Given the description of an element on the screen output the (x, y) to click on. 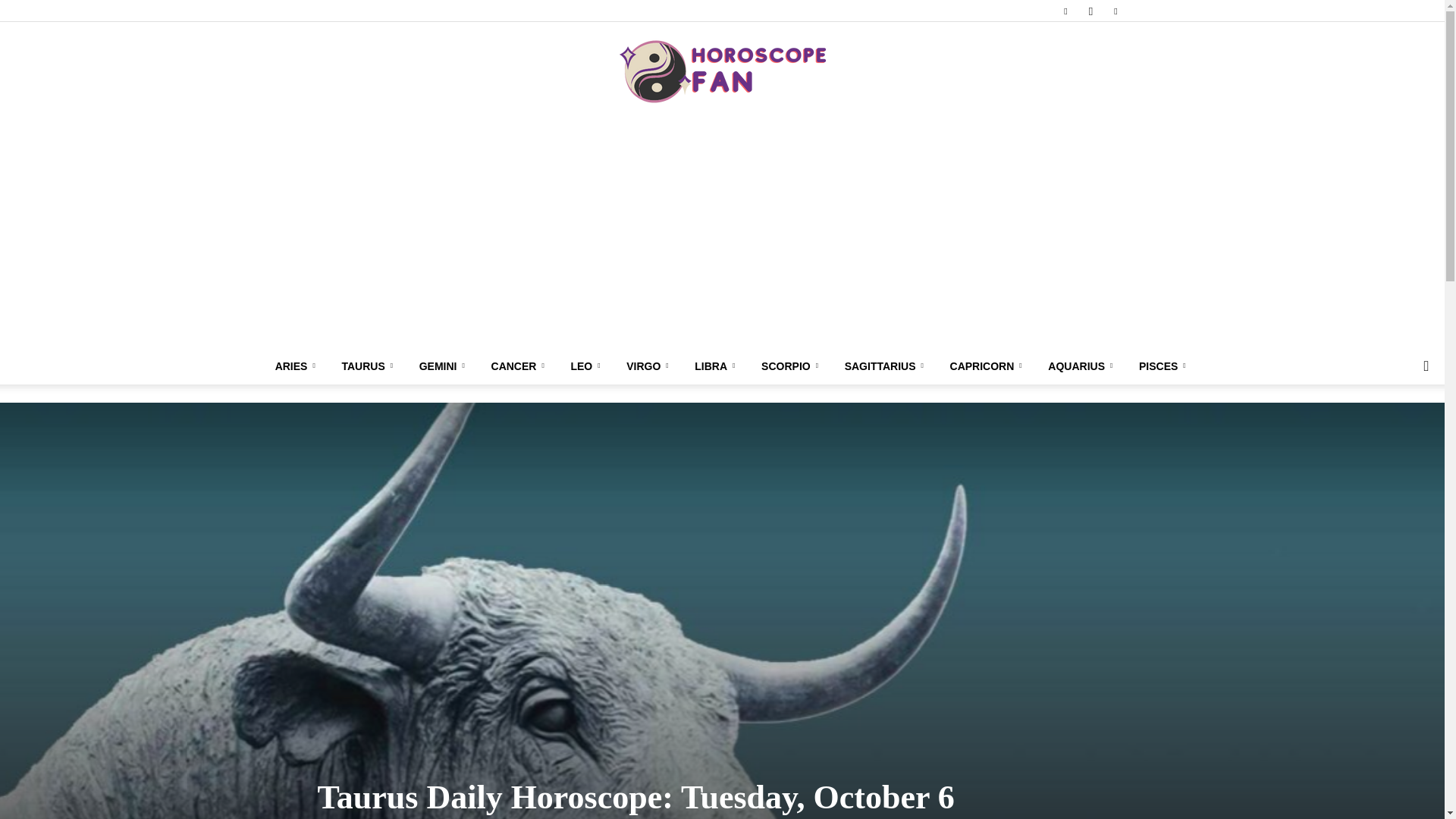
Facebook (1065, 10)
Instagram (1090, 10)
Pinterest (1114, 10)
